Given the description of an element on the screen output the (x, y) to click on. 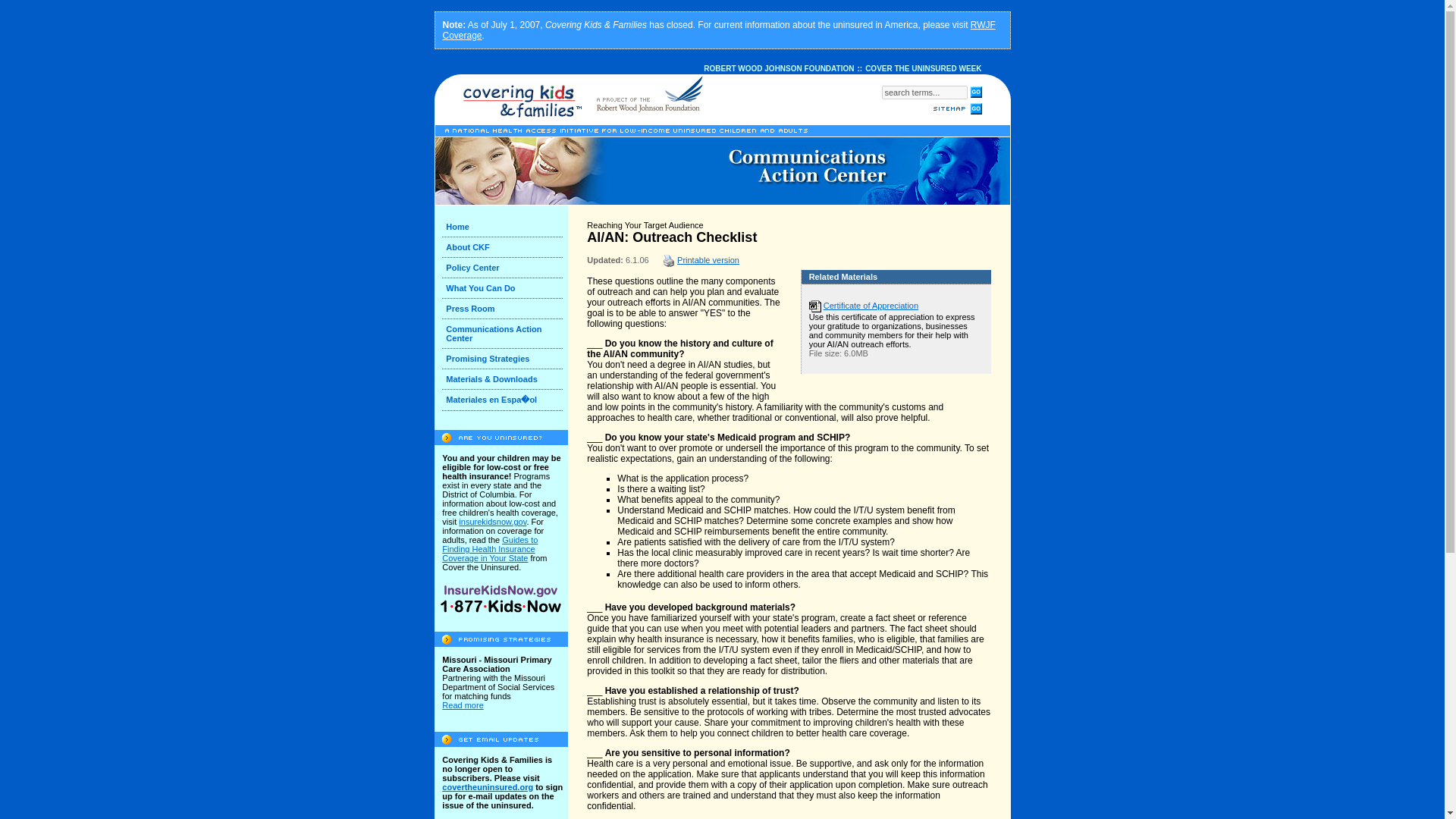
Policy Center (472, 266)
insurekidsnow.gov (491, 521)
Printable version (708, 259)
covertheuninsured.org (487, 786)
Guides to Finding Health Insurance Coverage in Your State (489, 548)
Read more (462, 705)
Communications Action Center (493, 333)
What You Can Do (480, 287)
Press Room (470, 307)
RWJF Coverage (718, 29)
About CKF (467, 246)
Promising Strategies (487, 358)
Certificate of Appreciation (871, 305)
ROBERT WOOD JOHNSON FOUNDATION (778, 68)
Home (456, 225)
